Given the description of an element on the screen output the (x, y) to click on. 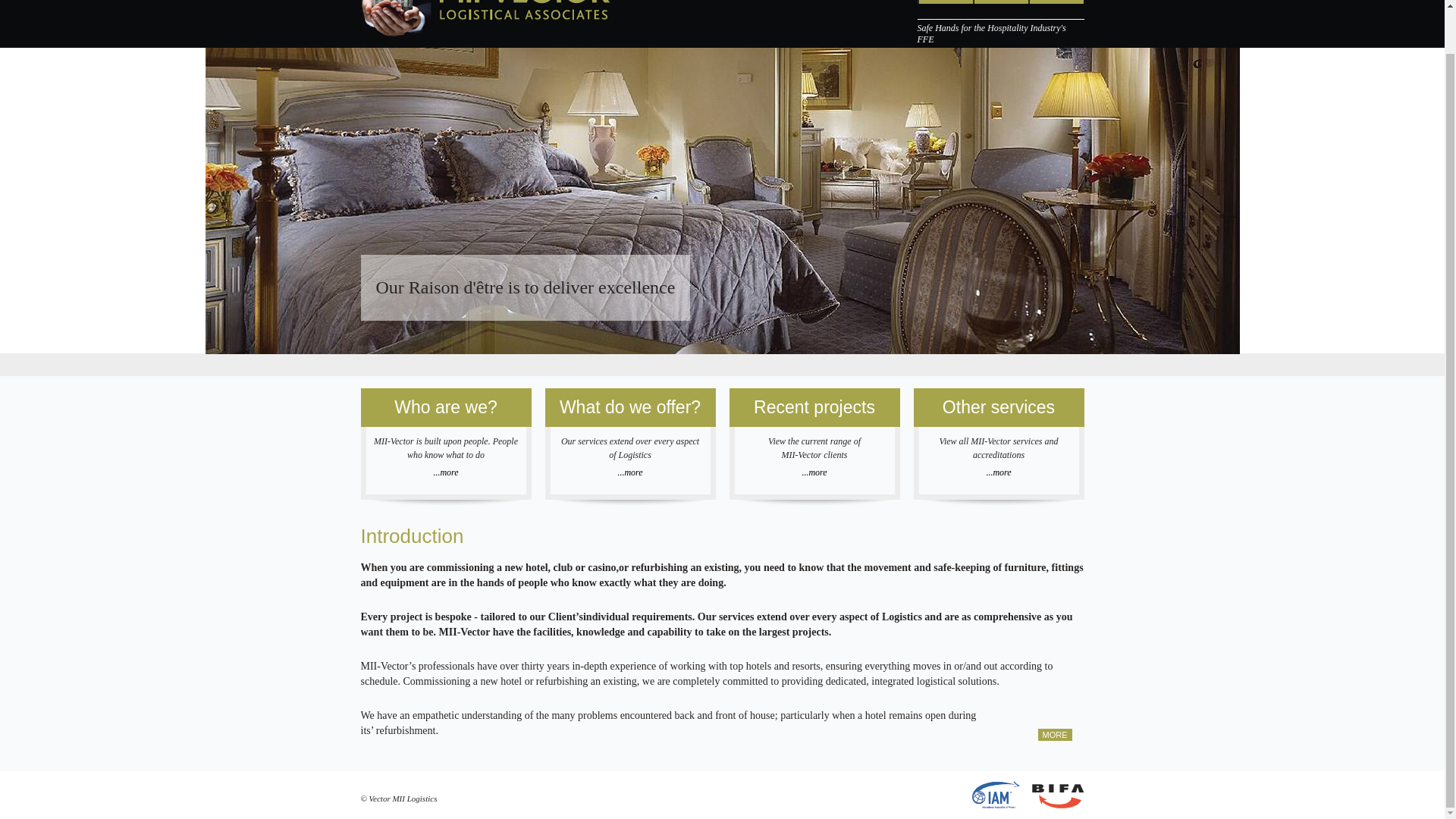
...more (998, 472)
...more (813, 472)
Other services (998, 406)
Home (944, 2)
Contact Us (1055, 2)
...more (445, 472)
Recent projects (814, 406)
Who are we? (445, 406)
Testimonials (999, 2)
MORE (1053, 734)
...more (630, 472)
What do we offer? (629, 406)
